Given the description of an element on the screen output the (x, y) to click on. 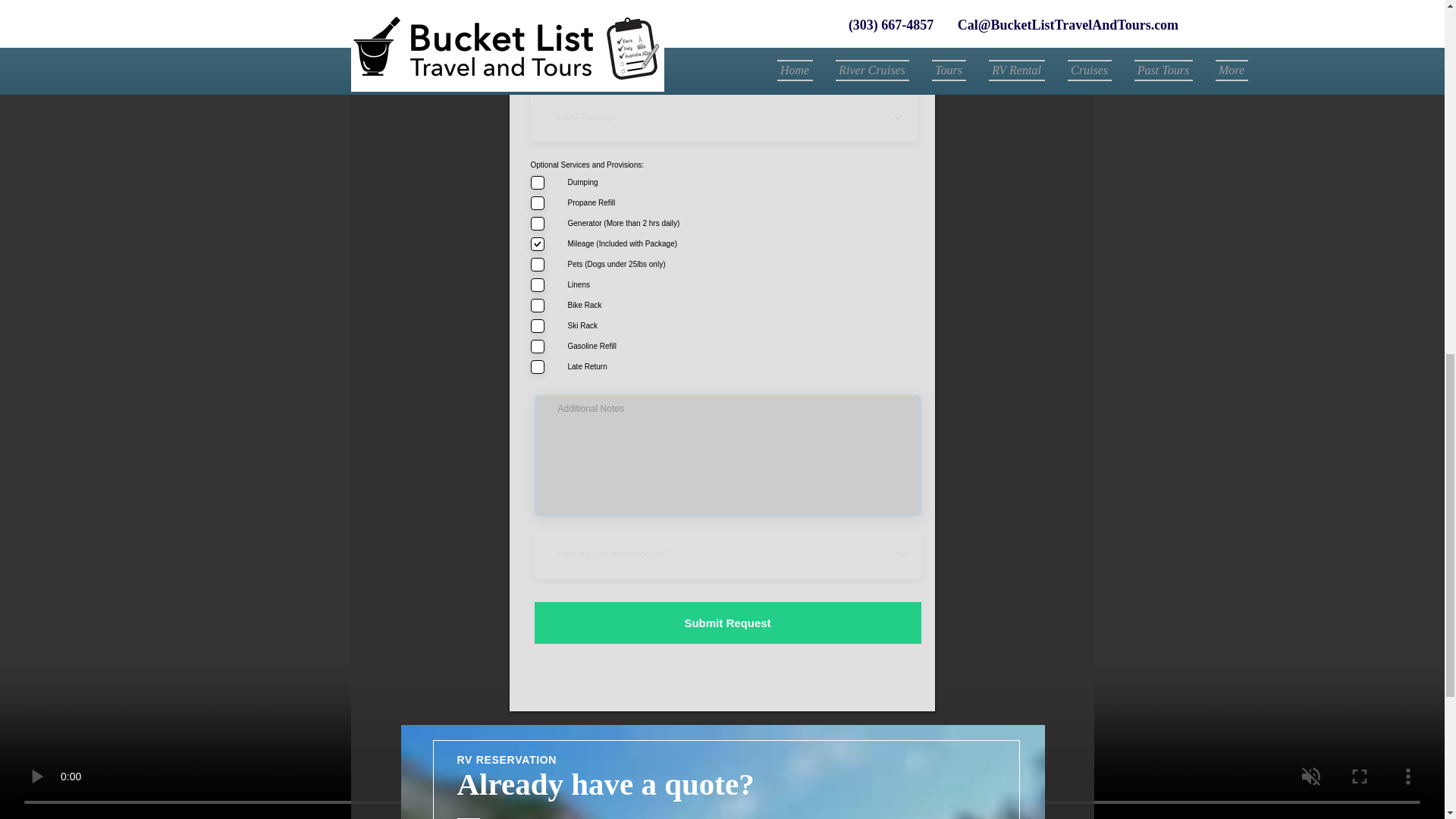
Submit Request (727, 622)
